Given the description of an element on the screen output the (x, y) to click on. 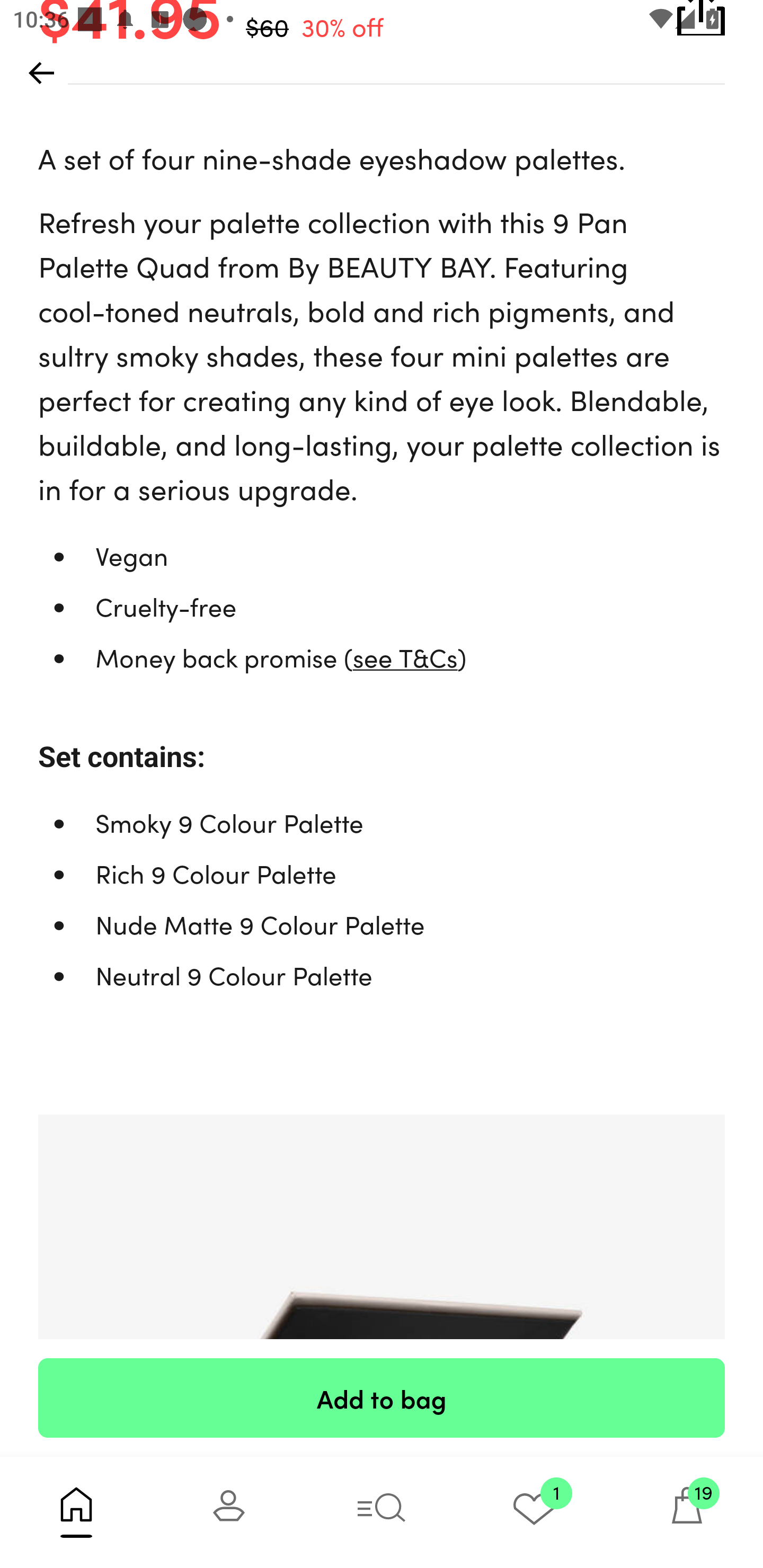
Add to bag (381, 1397)
1 (533, 1512)
19 (686, 1512)
